Given the description of an element on the screen output the (x, y) to click on. 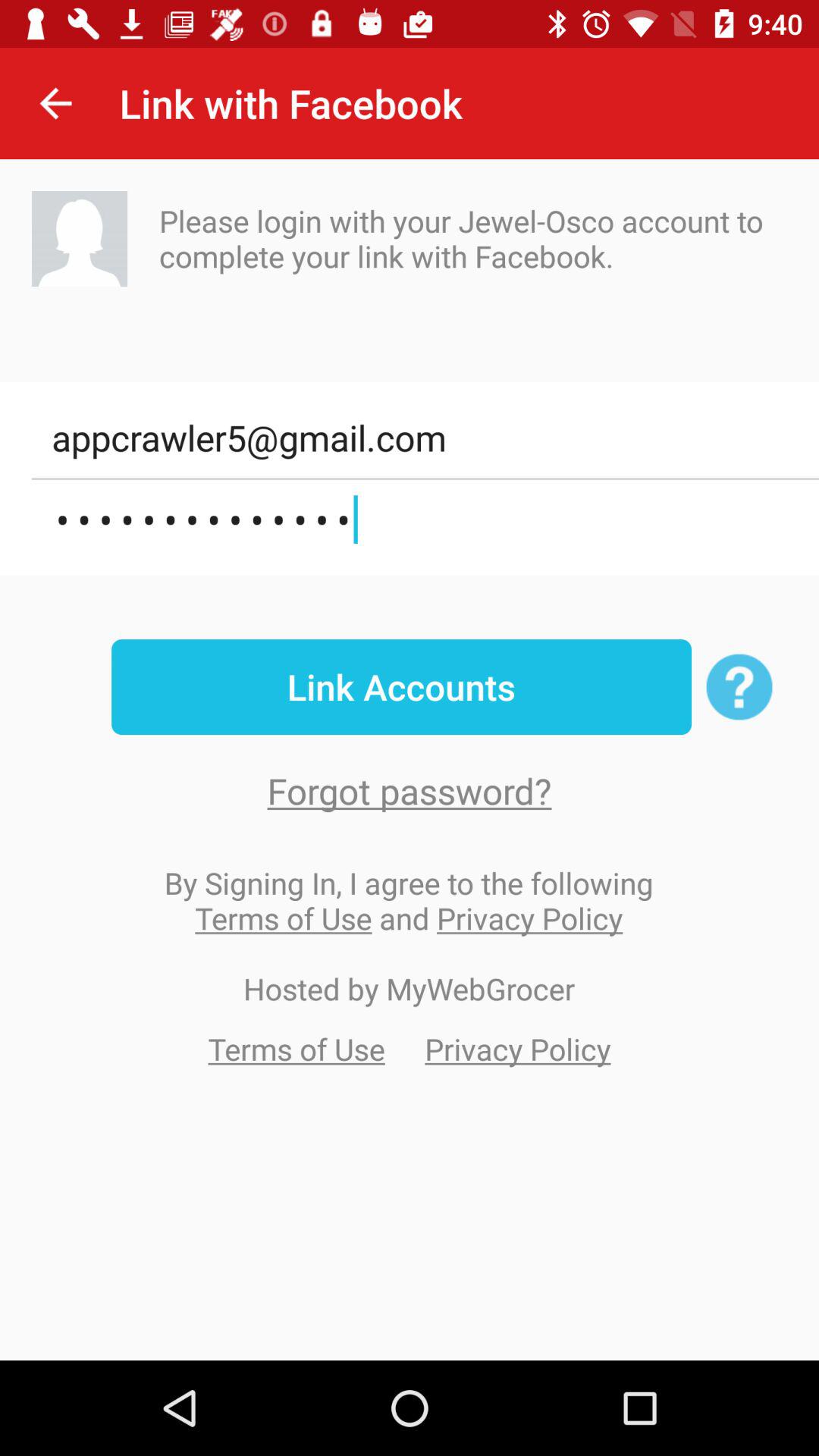
launch the link accounts icon (401, 686)
